Given the description of an element on the screen output the (x, y) to click on. 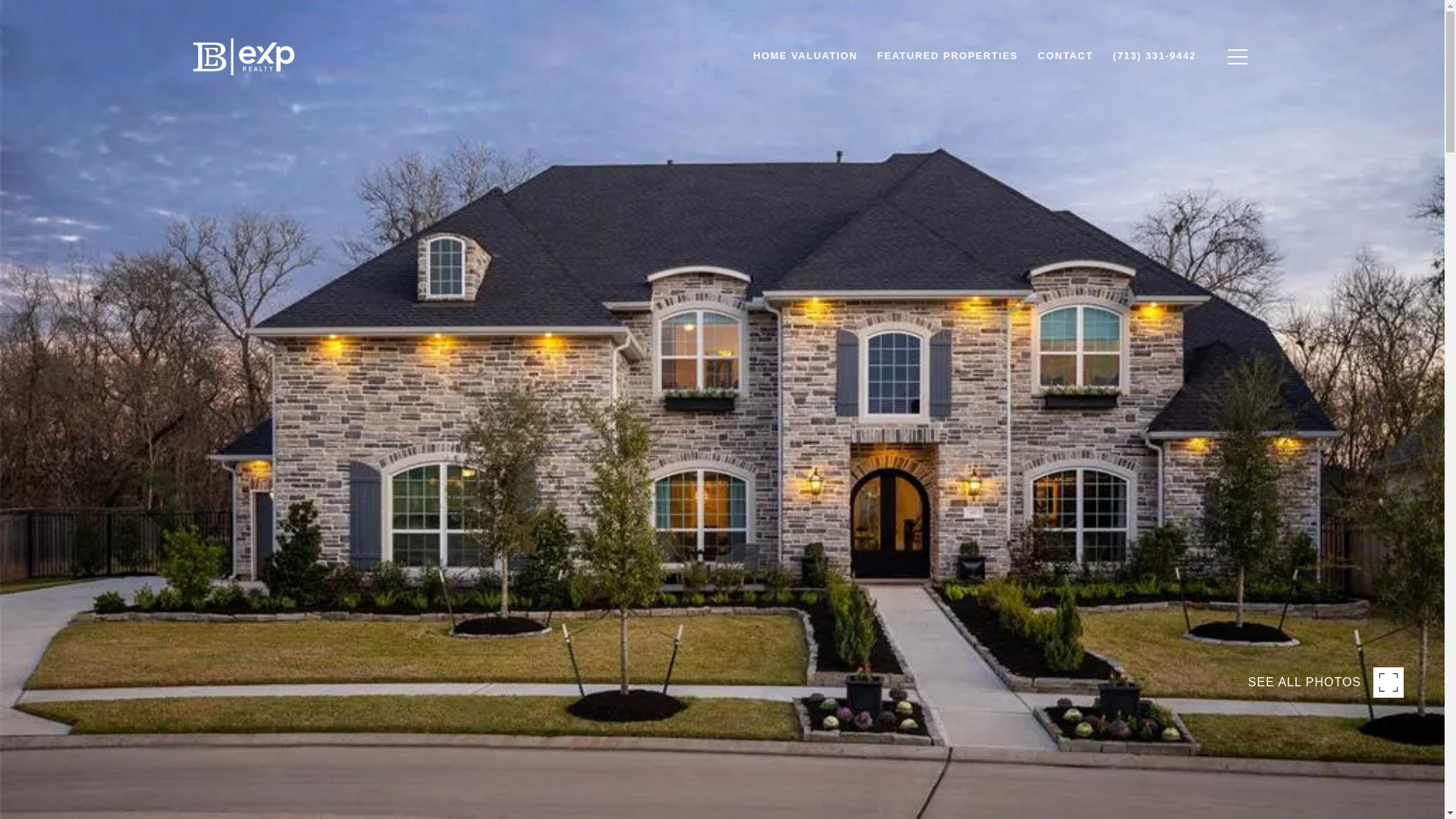
FEATURED PROPERTIES (947, 55)
CONTACT (1065, 55)
HOME VALUATION (804, 55)
